Given the description of an element on the screen output the (x, y) to click on. 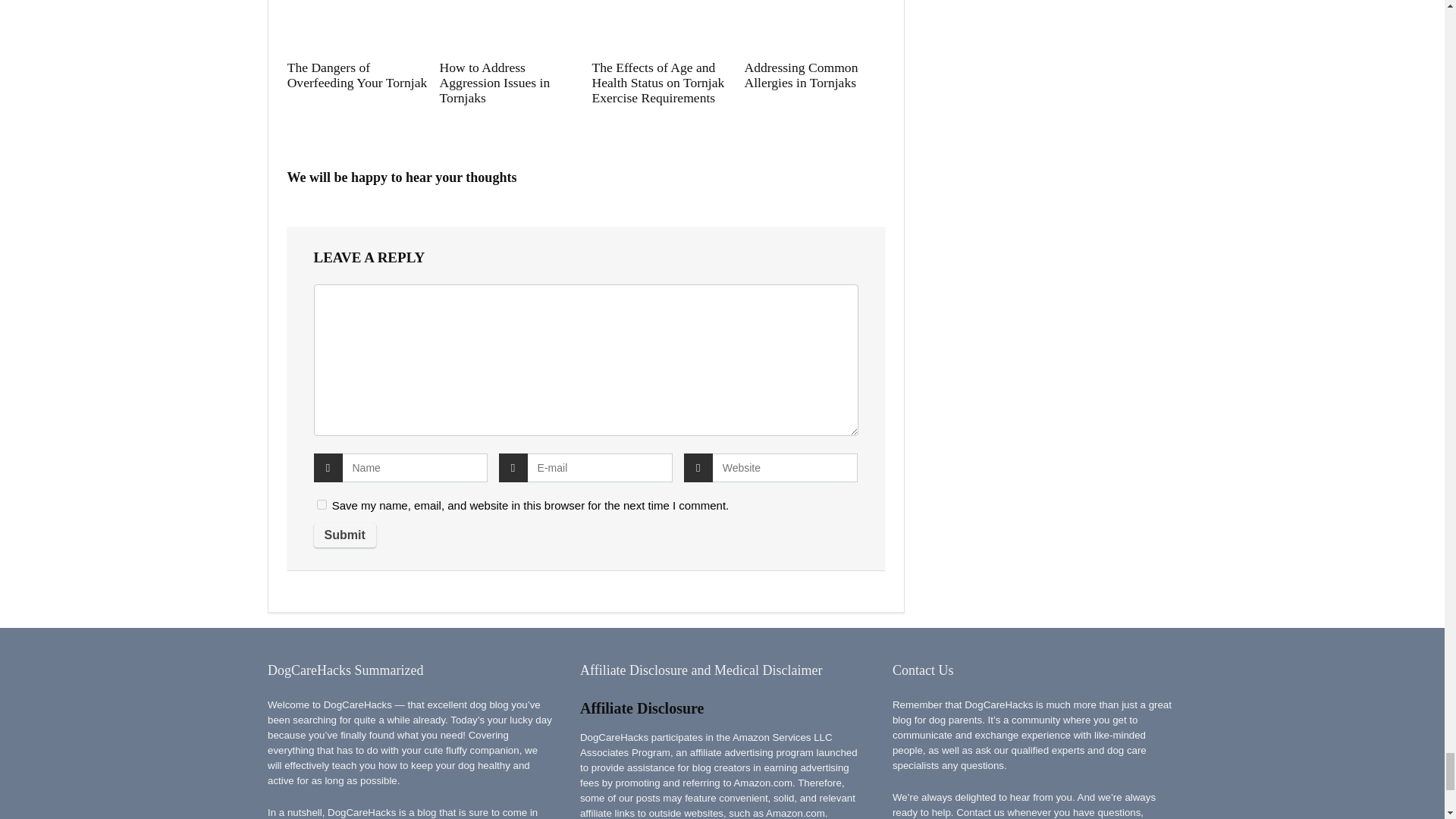
yes (321, 504)
Submit (344, 535)
